Given the description of an element on the screen output the (x, y) to click on. 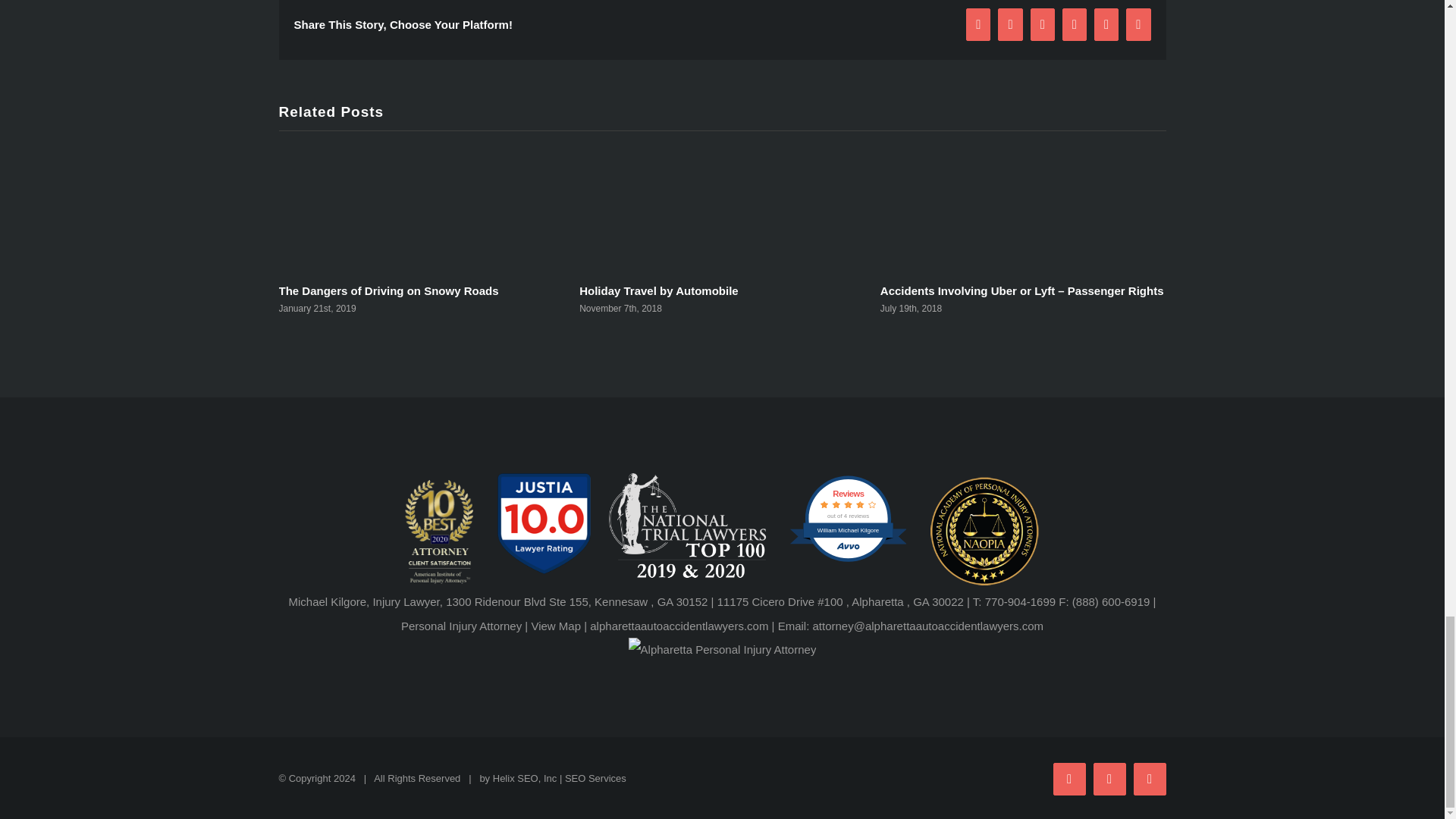
Facebook (1068, 778)
LinkedIn (1149, 778)
X (1109, 778)
Holiday Travel by Automobile (658, 290)
Holiday Travel by Automobile (658, 290)
The Dangers of Driving on Snowy Roads (389, 290)
The Dangers of Driving on Snowy Roads (389, 290)
